Given the description of an element on the screen output the (x, y) to click on. 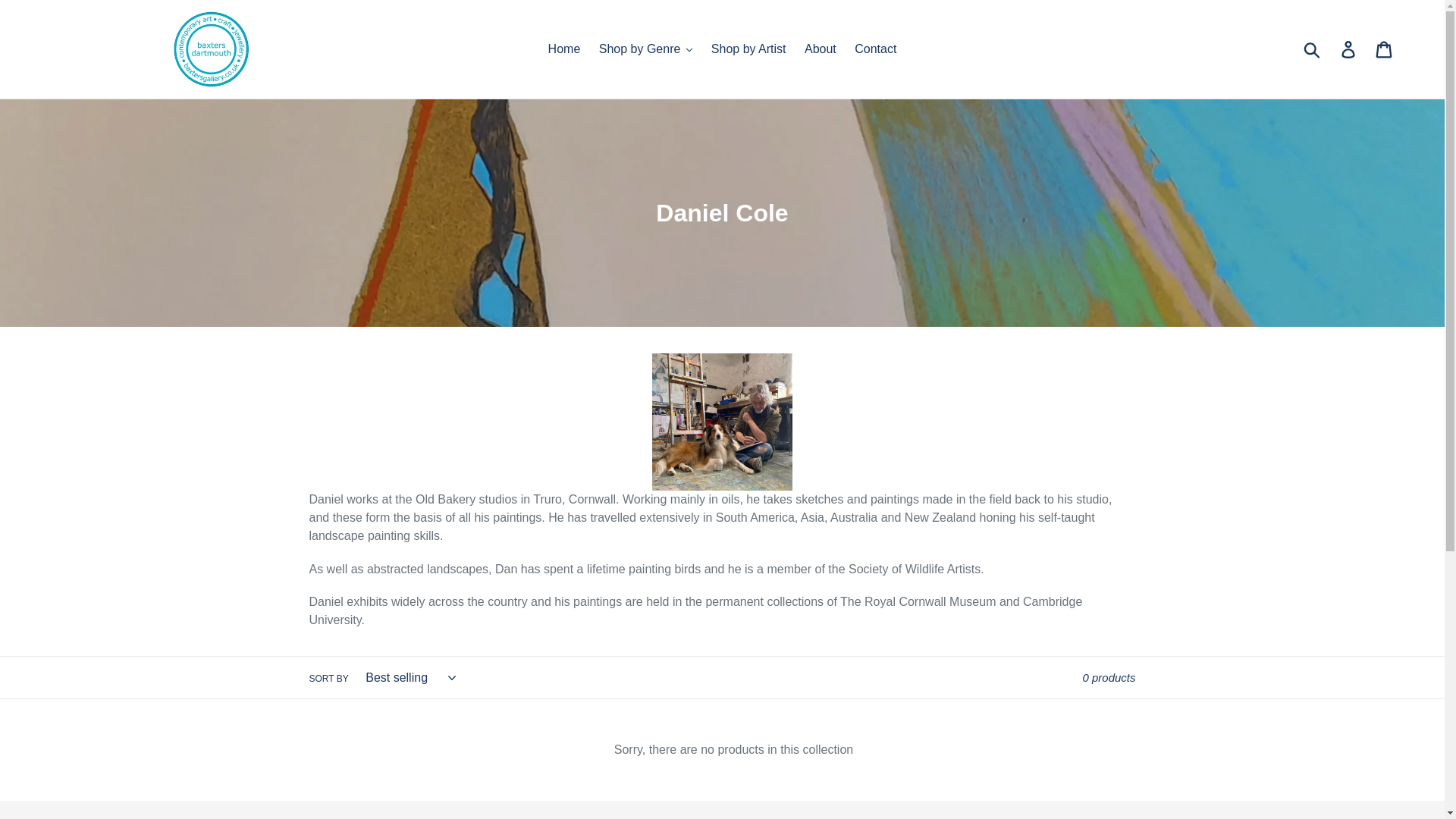
Contact (875, 48)
Home (564, 48)
Log in (1349, 49)
About (820, 48)
Submit (1313, 49)
Shop by Artist (748, 48)
Cart (1385, 49)
